Given the description of an element on the screen output the (x, y) to click on. 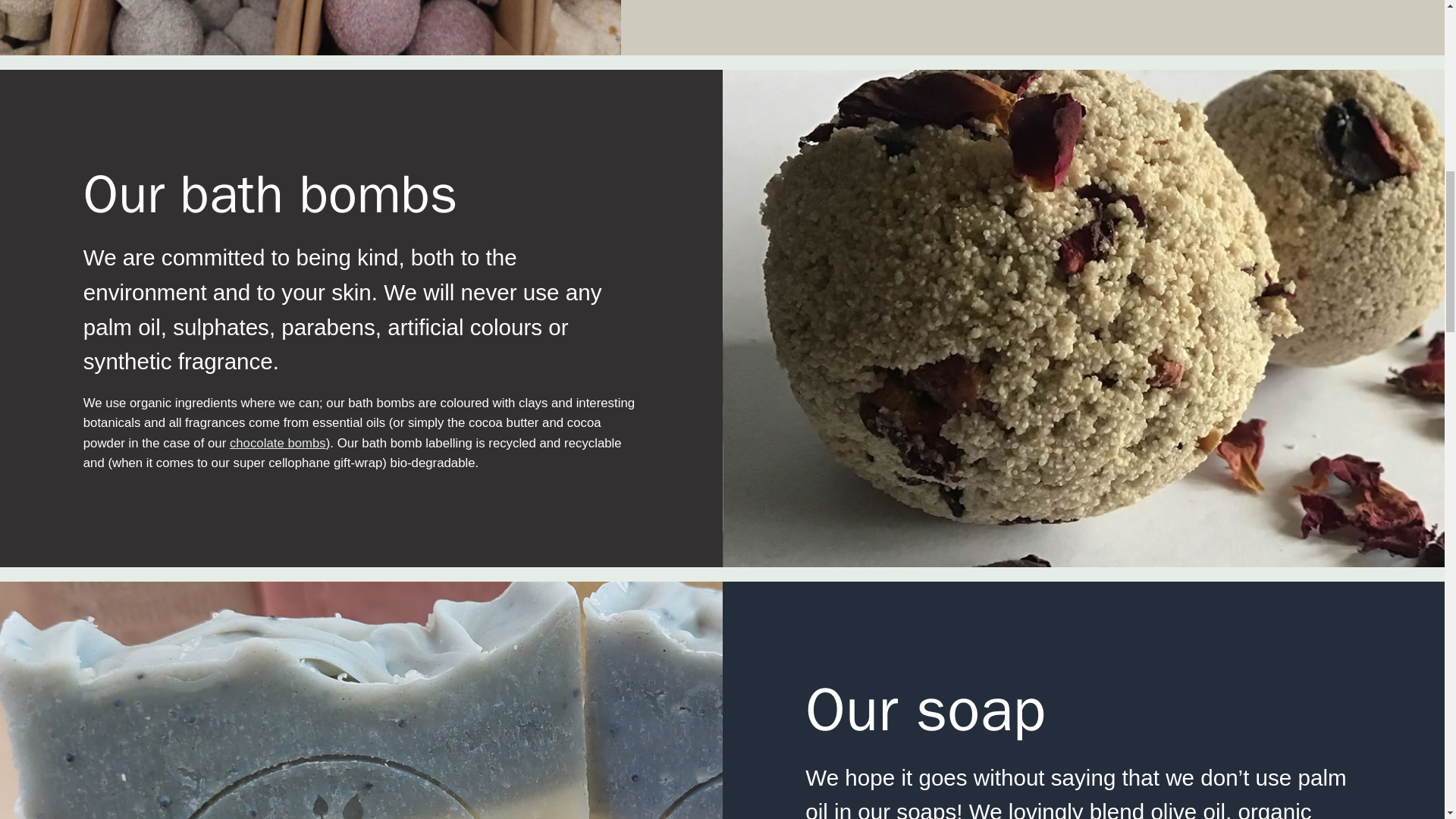
chocolate bombs (278, 441)
